Given the description of an element on the screen output the (x, y) to click on. 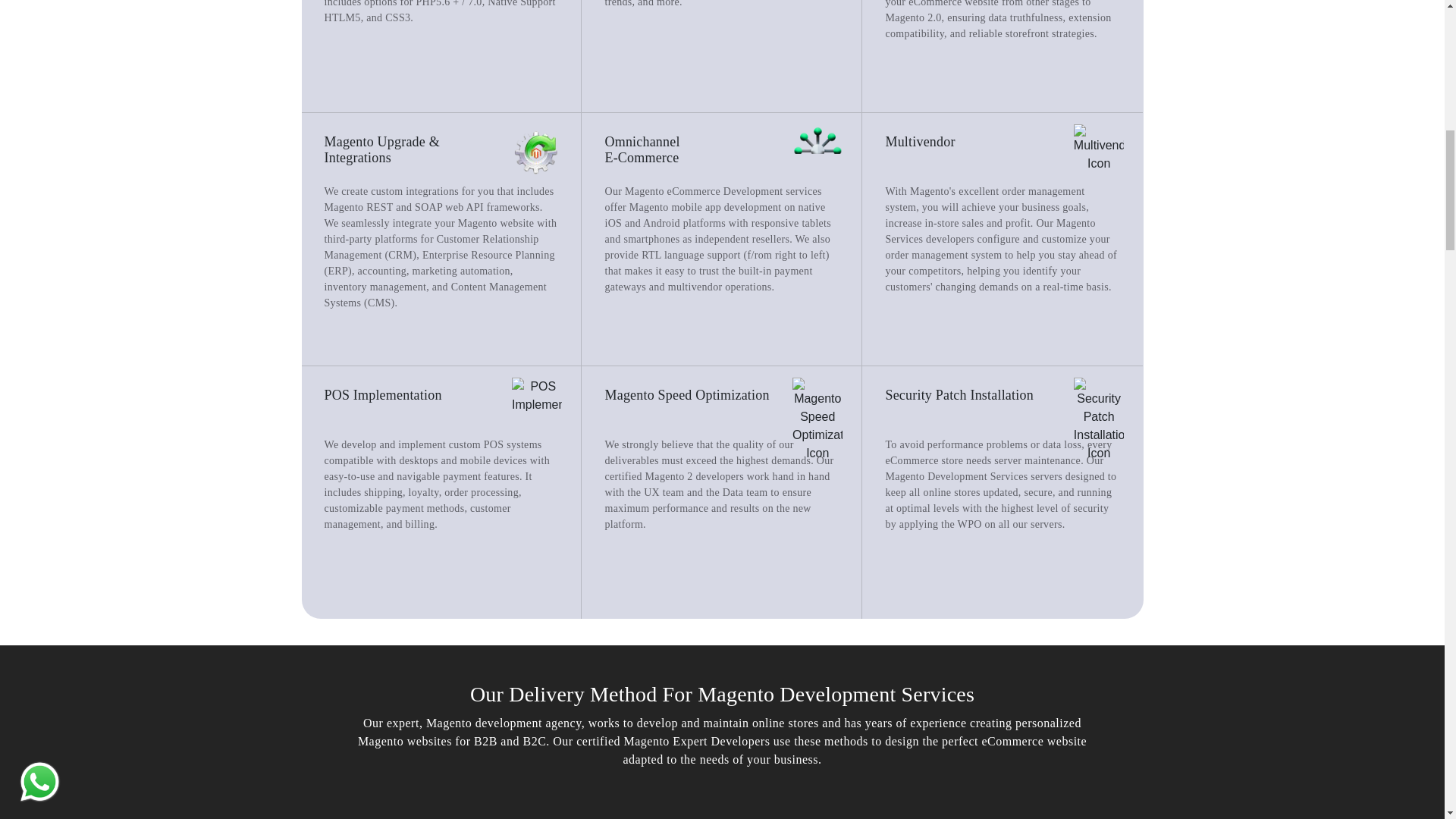
Multivendor Icon (1099, 148)
Omnichannel E-Commerce Icon (817, 149)
POS Implementation (537, 395)
